Given the description of an element on the screen output the (x, y) to click on. 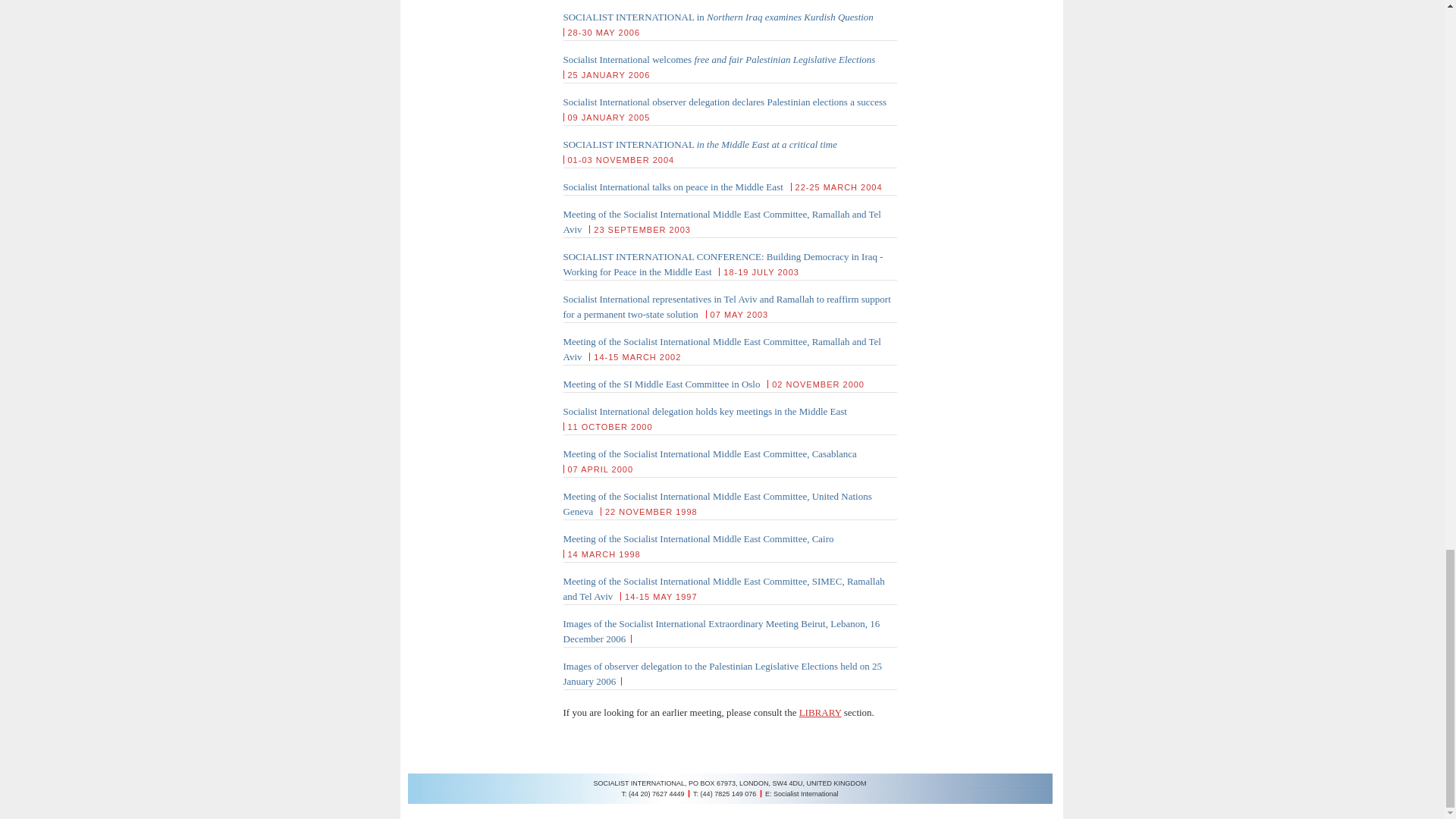
Socialist International talks on peace in the Middle East (672, 186)
